Given the description of an element on the screen output the (x, y) to click on. 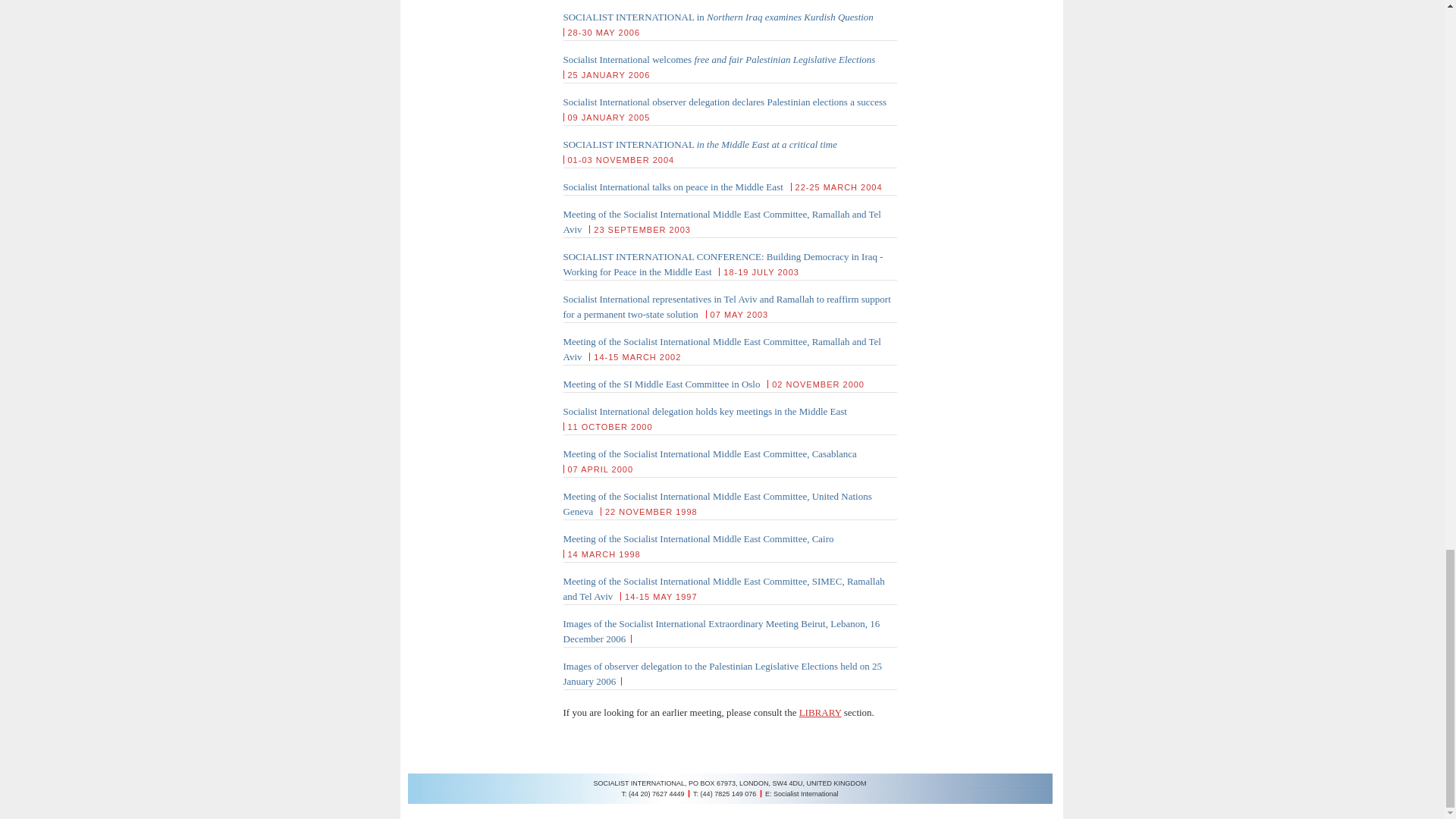
Socialist International talks on peace in the Middle East (672, 186)
